Given the description of an element on the screen output the (x, y) to click on. 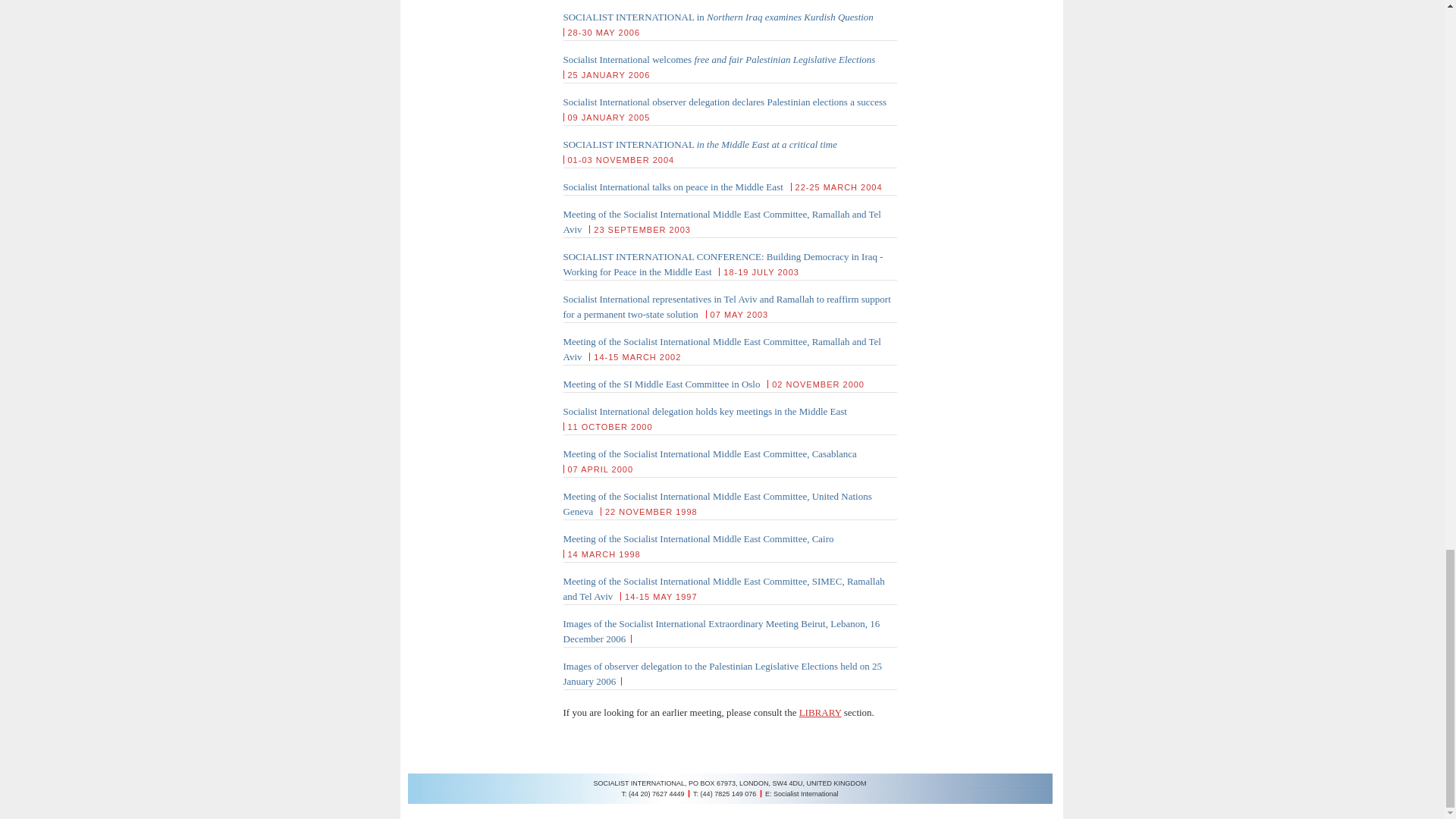
Socialist International talks on peace in the Middle East (672, 186)
